Given the description of an element on the screen output the (x, y) to click on. 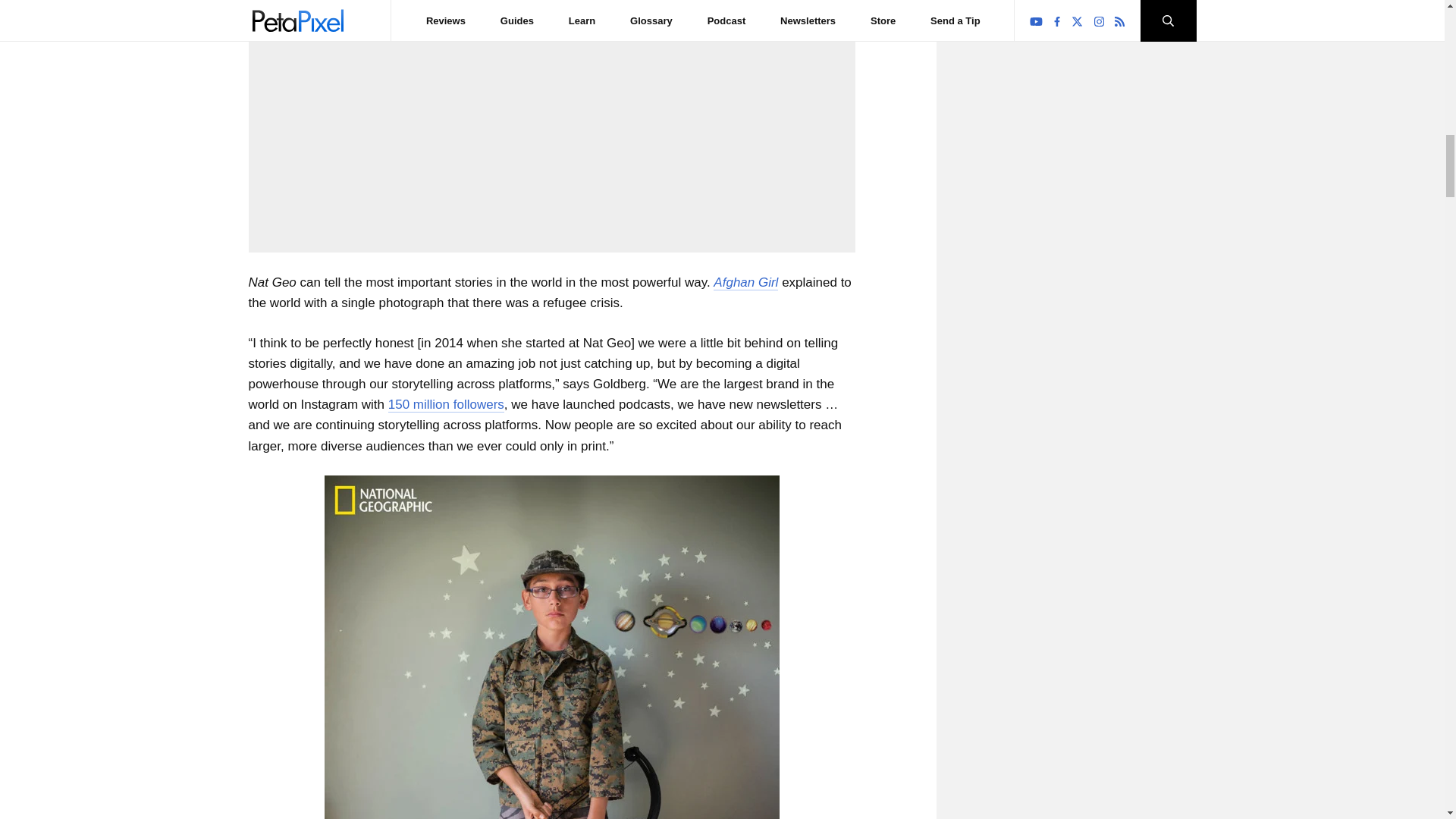
150 million followers (445, 404)
Afghan Girl (745, 282)
